Given the description of an element on the screen output the (x, y) to click on. 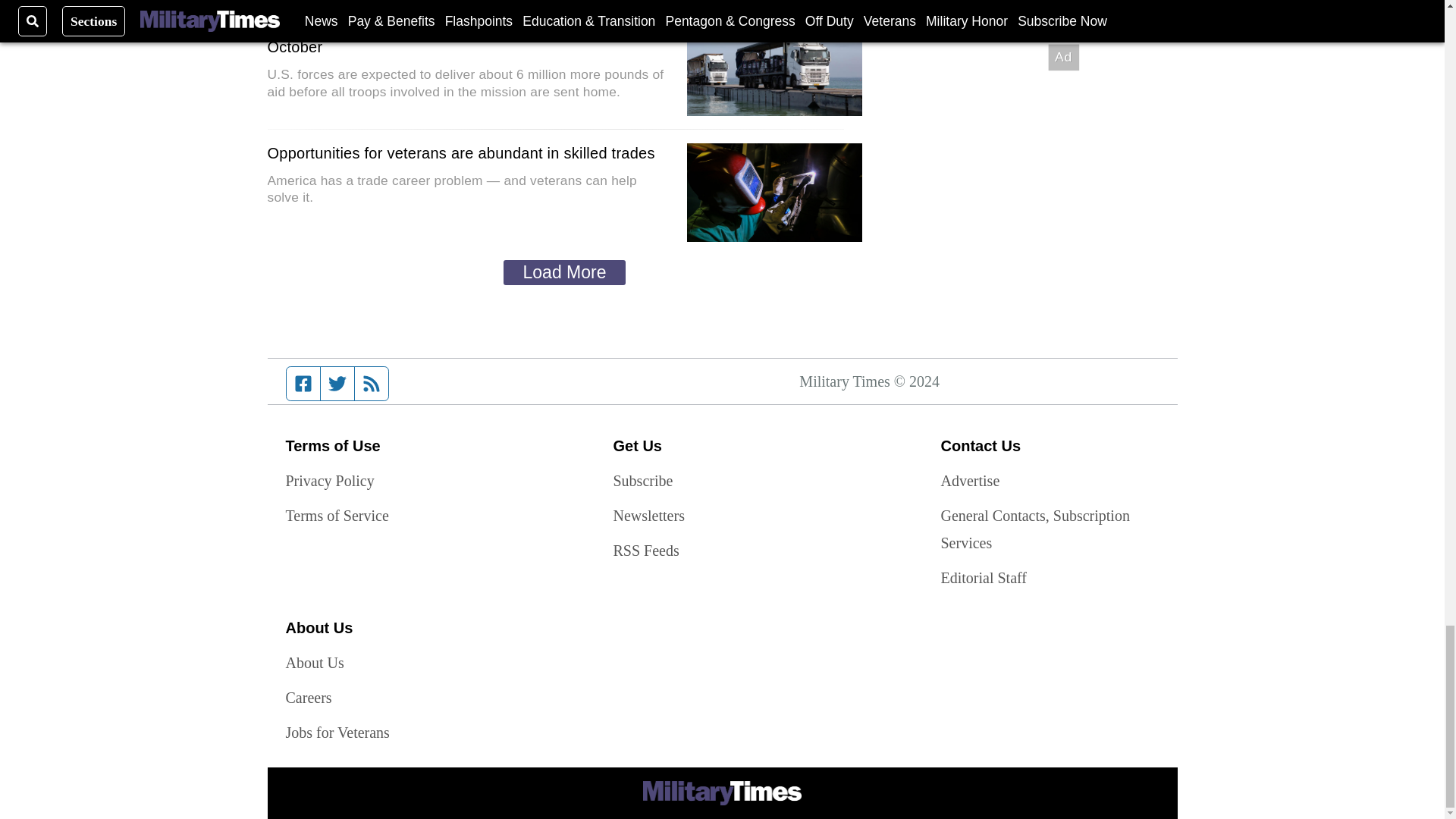
RSS feed (371, 383)
Facebook page (303, 383)
Twitter feed (336, 383)
